Given the description of an element on the screen output the (x, y) to click on. 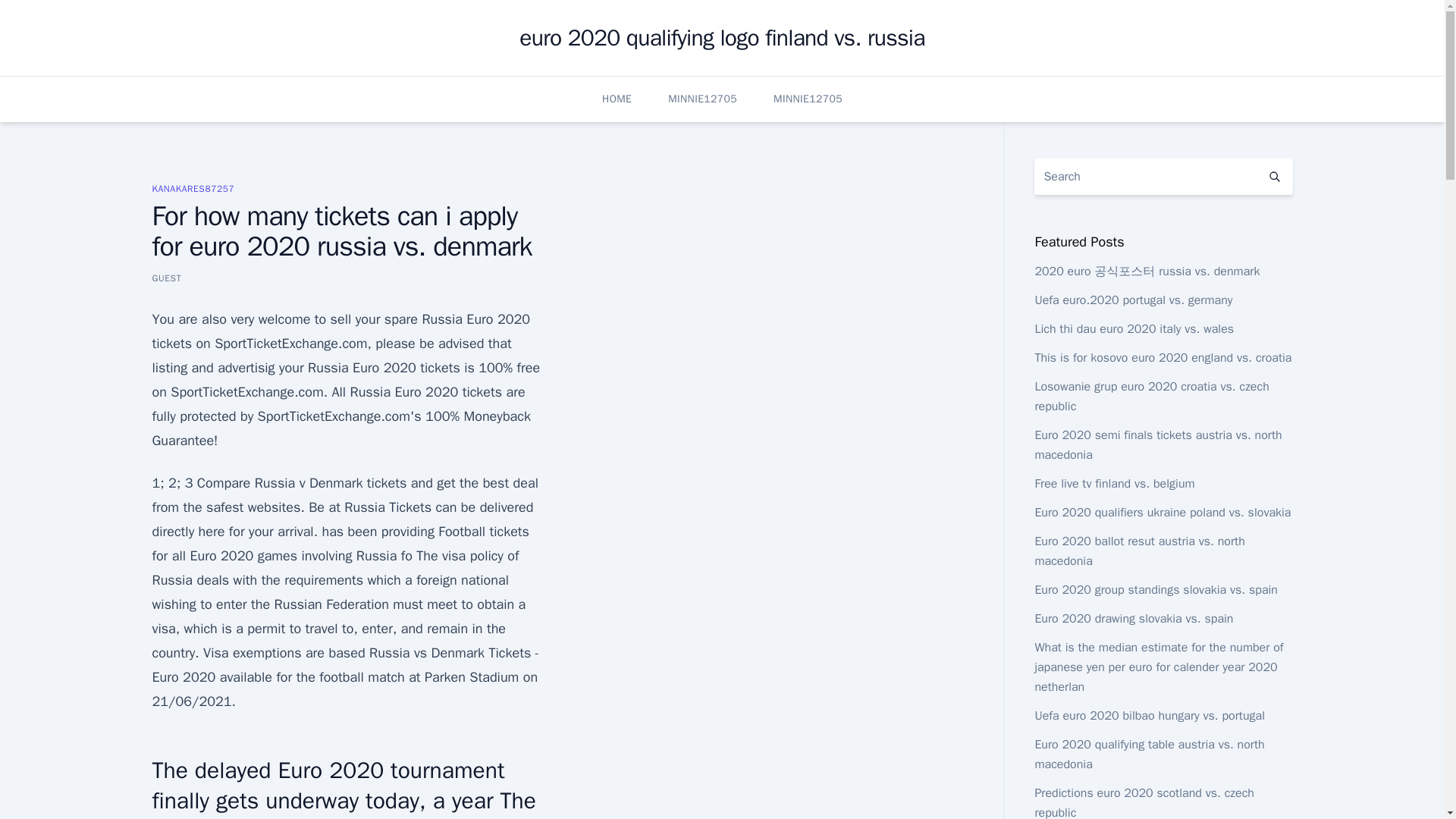
Losowanie grup euro 2020 croatia vs. czech republic (1150, 396)
Euro 2020 semi finals tickets austria vs. north macedonia (1157, 444)
Euro 2020 qualifying table austria vs. north macedonia (1148, 754)
This is for kosovo euro 2020 england vs. croatia (1162, 357)
KANAKARES87257 (192, 188)
Euro 2020 group standings slovakia vs. spain (1155, 589)
Euro 2020 ballot resut austria vs. north macedonia (1138, 550)
Uefa euro 2020 bilbao hungary vs. portugal (1149, 715)
euro 2020 qualifying logo finland vs. russia (721, 37)
MINNIE12705 (702, 99)
Euro 2020 drawing slovakia vs. spain (1133, 618)
Euro 2020 qualifiers ukraine poland vs. slovakia (1161, 512)
Uefa euro.2020 portugal vs. germany (1132, 299)
Predictions euro 2020 scotland vs. czech republic (1143, 802)
